Given the description of an element on the screen output the (x, y) to click on. 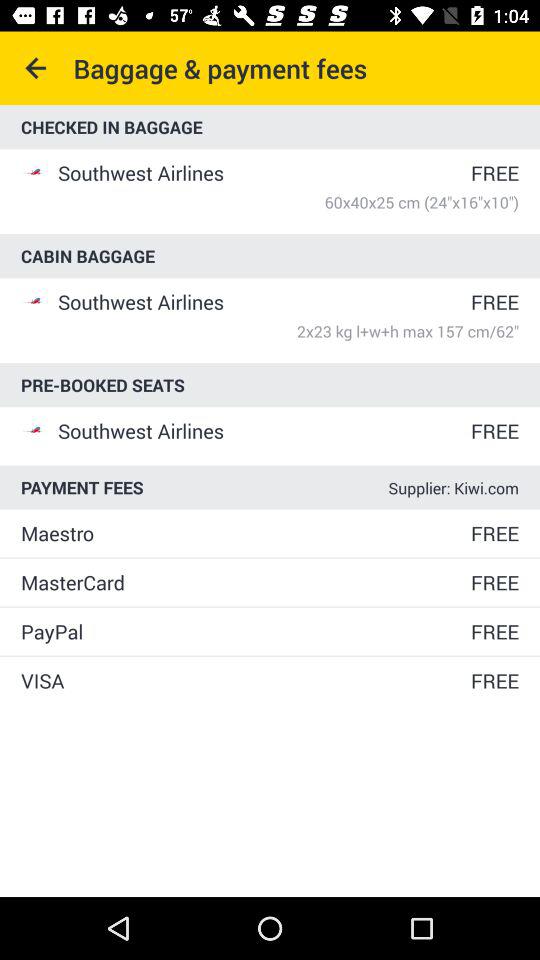
open the icon to the left of the baggage & payment fees item (36, 68)
